Given the description of an element on the screen output the (x, y) to click on. 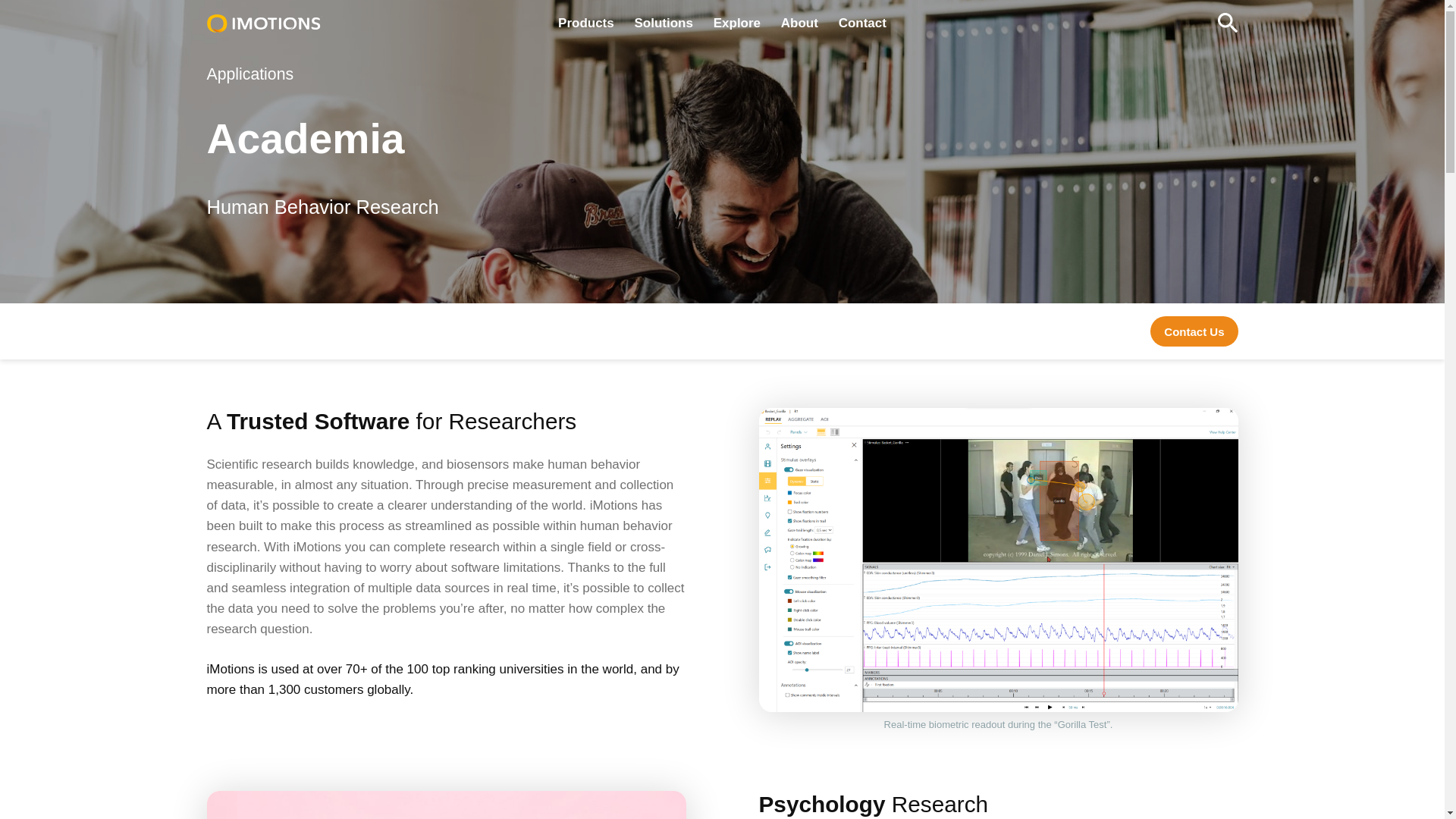
Solutions (663, 23)
Products (585, 23)
